Given the description of an element on the screen output the (x, y) to click on. 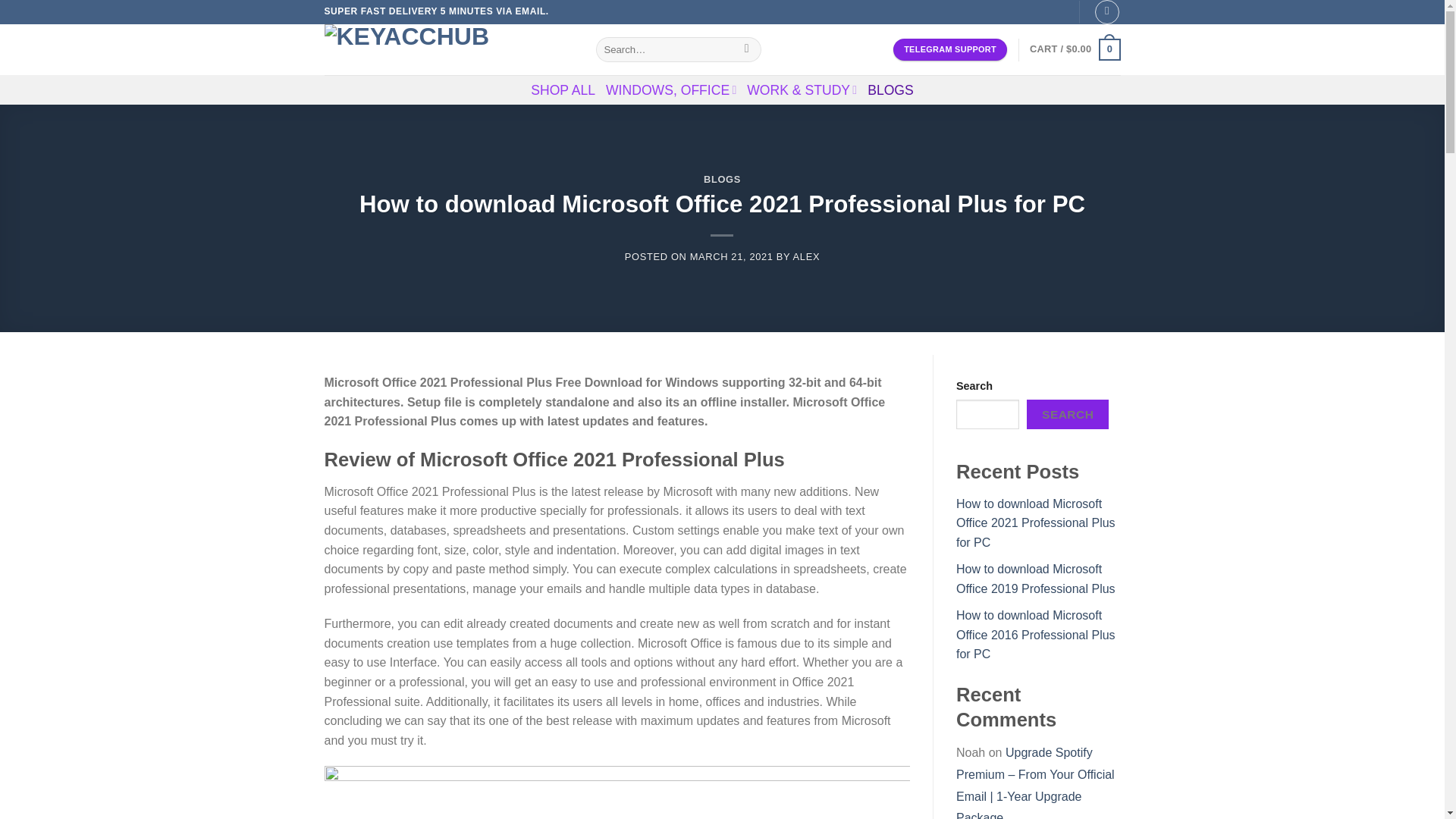
TELEGRAM SUPPORT (950, 48)
Cart (1074, 49)
SHOP ALL (563, 90)
WINDOWS, OFFICE (670, 89)
Search (745, 49)
